Given the description of an element on the screen output the (x, y) to click on. 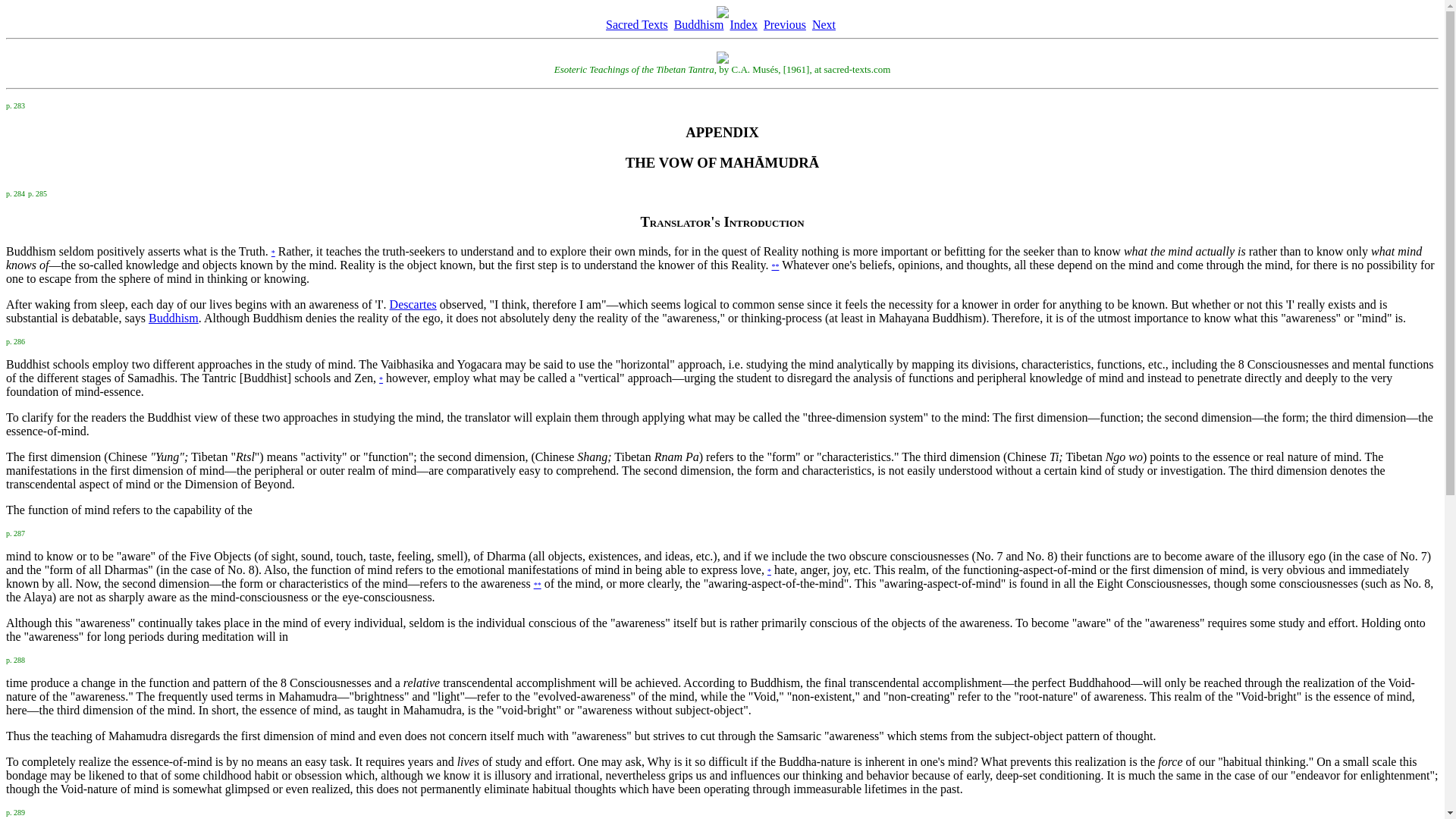
p. 289 (14, 810)
p. 288 (14, 658)
Next (823, 24)
p. 284 (14, 192)
p. 285 (36, 192)
p. 287 (14, 531)
Sacred Texts (636, 24)
Previous (784, 24)
Buddhism (173, 318)
Descartes (413, 304)
